Given the description of an element on the screen output the (x, y) to click on. 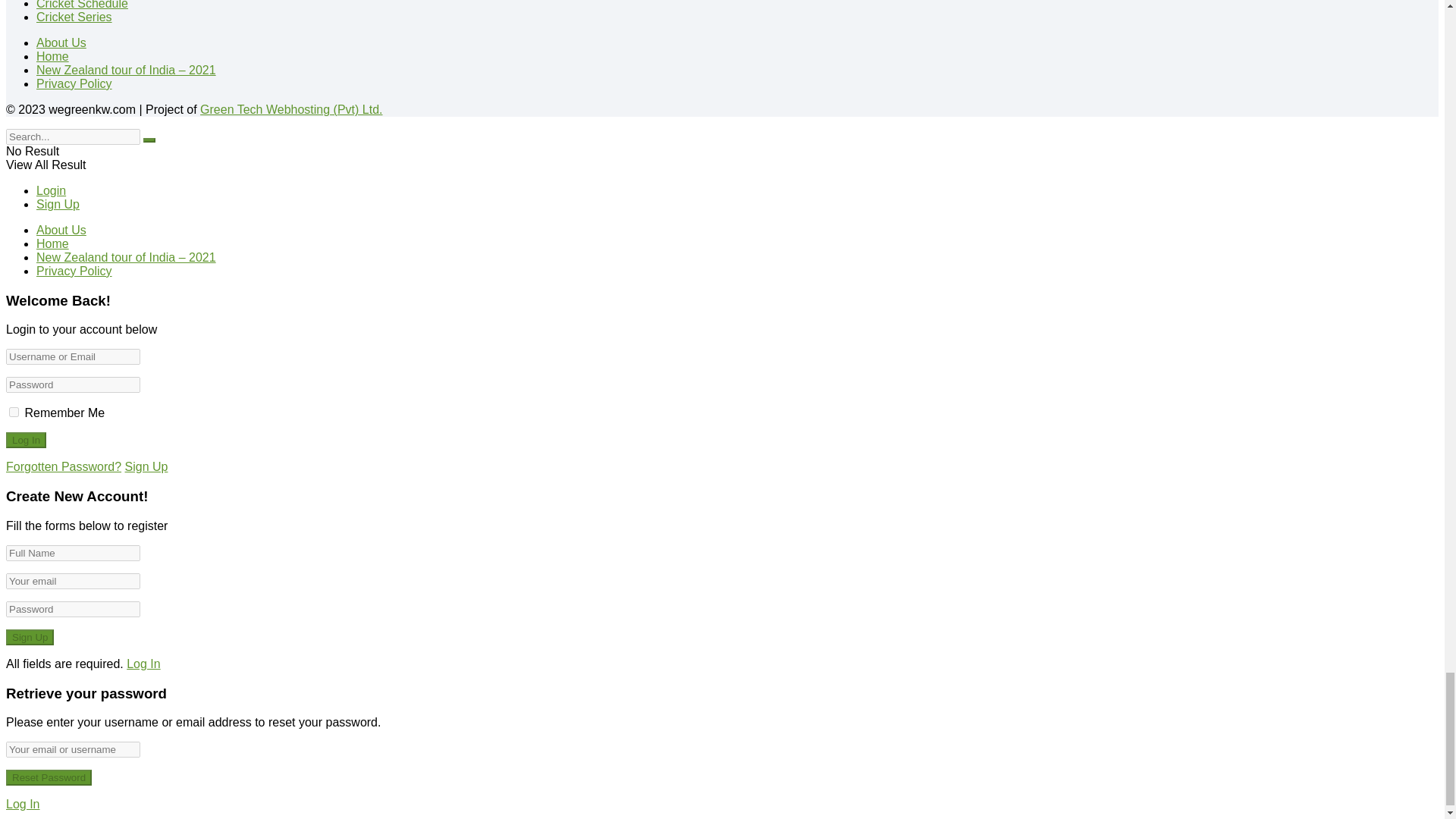
Reset Password (48, 777)
true (13, 411)
Log In (25, 439)
Sign Up (29, 637)
